Given the description of an element on the screen output the (x, y) to click on. 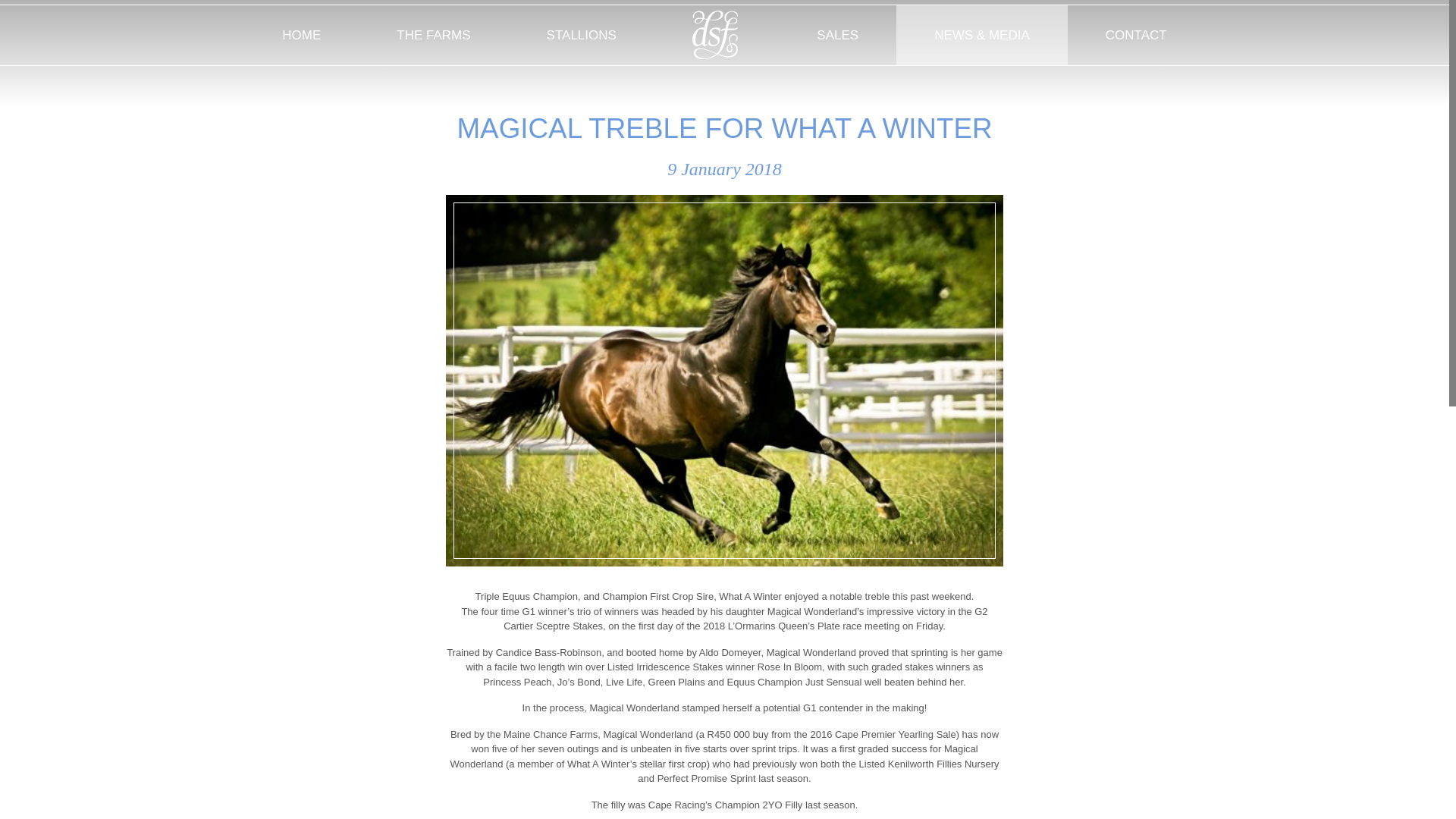
HOME (301, 35)
THE FARMS (433, 35)
CONTACT (1136, 35)
STALLIONS (580, 35)
SALES (837, 35)
